Given the description of an element on the screen output the (x, y) to click on. 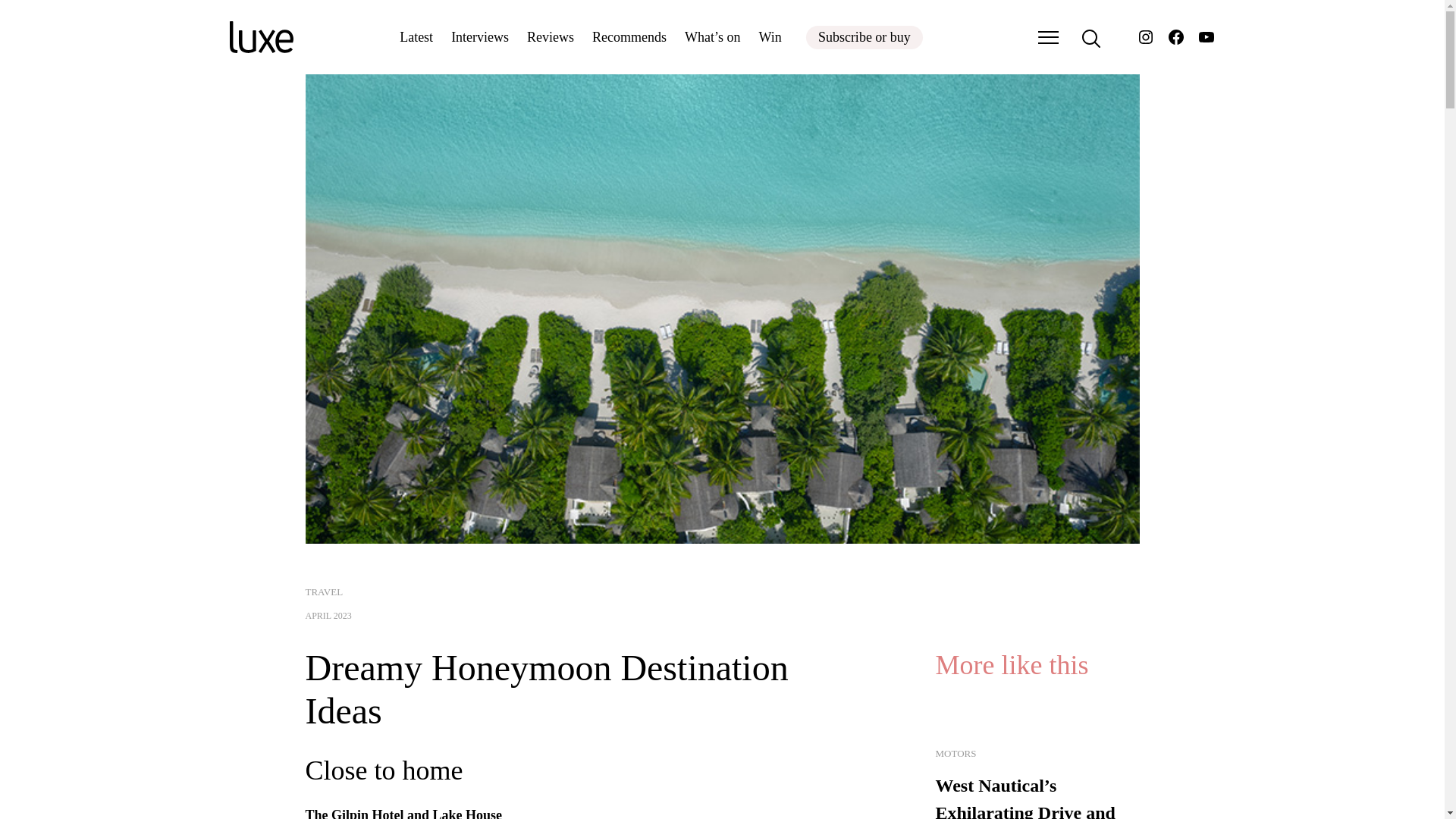
Latest (415, 36)
Recommends (629, 36)
Facebook (1175, 36)
TRAVEL (323, 591)
Subscribe or buy (864, 37)
MOTORS (956, 753)
Reviews (550, 36)
Win (769, 36)
Instagram (1144, 36)
YouTube (1205, 36)
Interviews (479, 36)
